Given the description of an element on the screen output the (x, y) to click on. 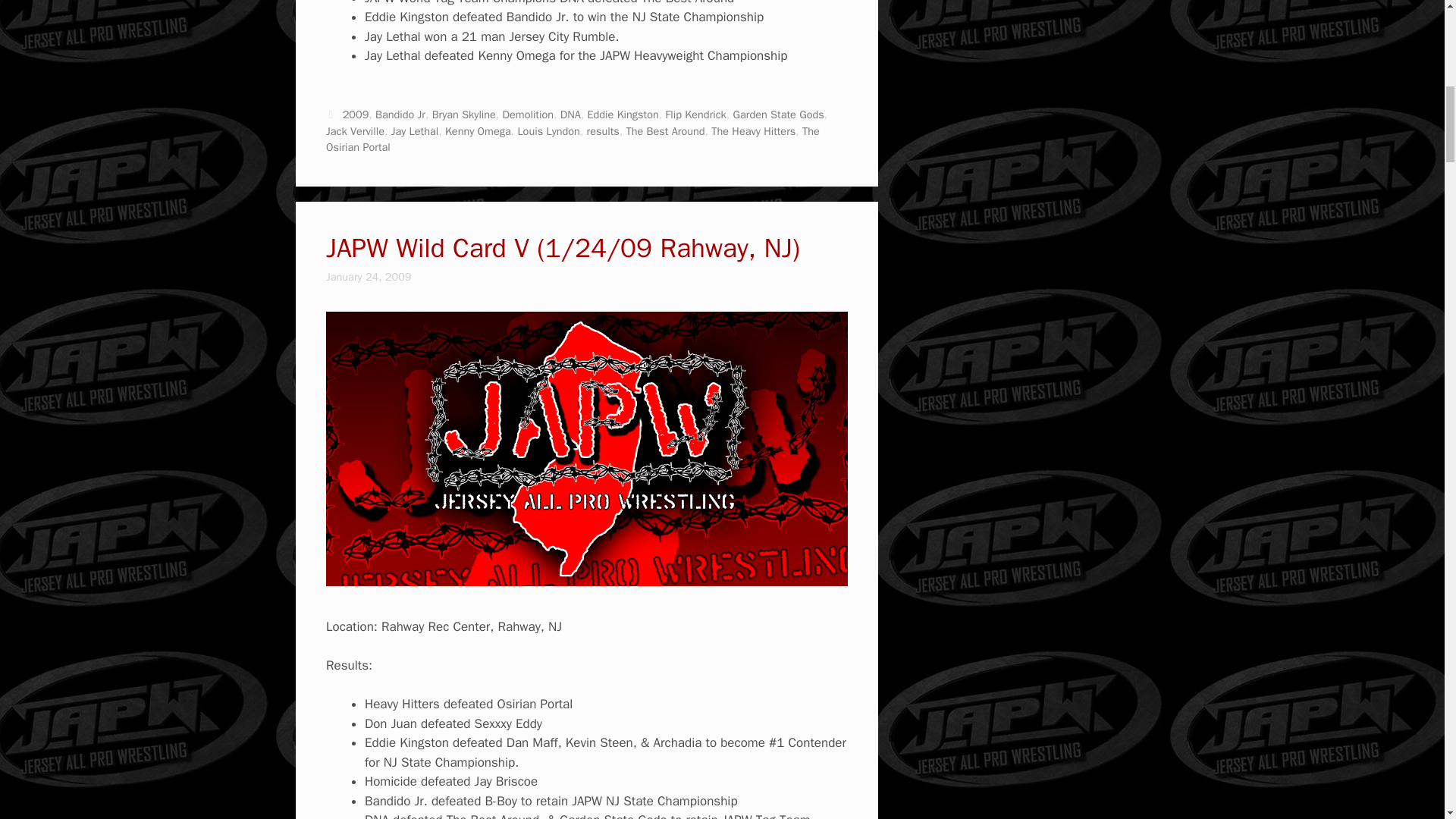
The Best Around (665, 131)
2009 (355, 114)
The Heavy Hitters (752, 131)
Demolition (527, 114)
Kenny Omega (478, 131)
DNA (570, 114)
Eddie Kingston (622, 114)
Flip Kendrick (695, 114)
Louis Lyndon (547, 131)
results (603, 131)
